Given the description of an element on the screen output the (x, y) to click on. 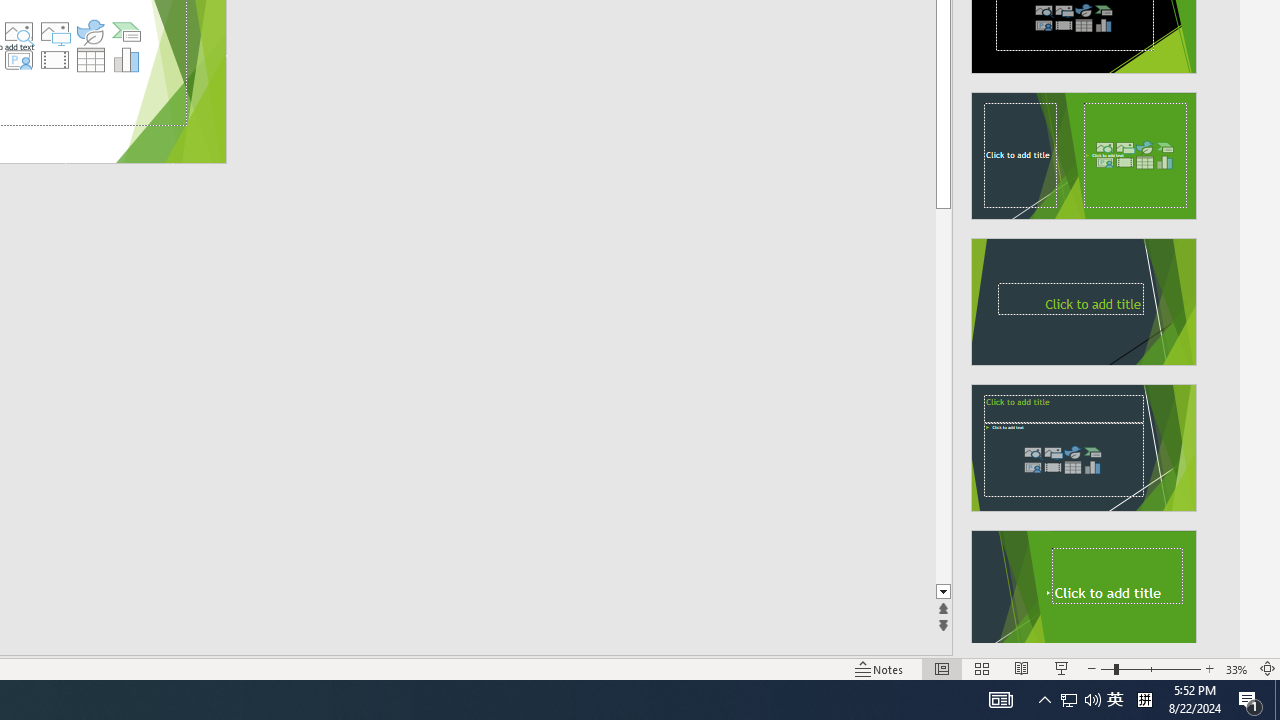
Insert Video (54, 60)
Stock Images (18, 32)
Insert a SmartArt Graphic (127, 32)
Insert Cameo (18, 60)
Insert Chart (127, 60)
Zoom 33% (1236, 668)
Design Idea (1083, 587)
